Given the description of an element on the screen output the (x, y) to click on. 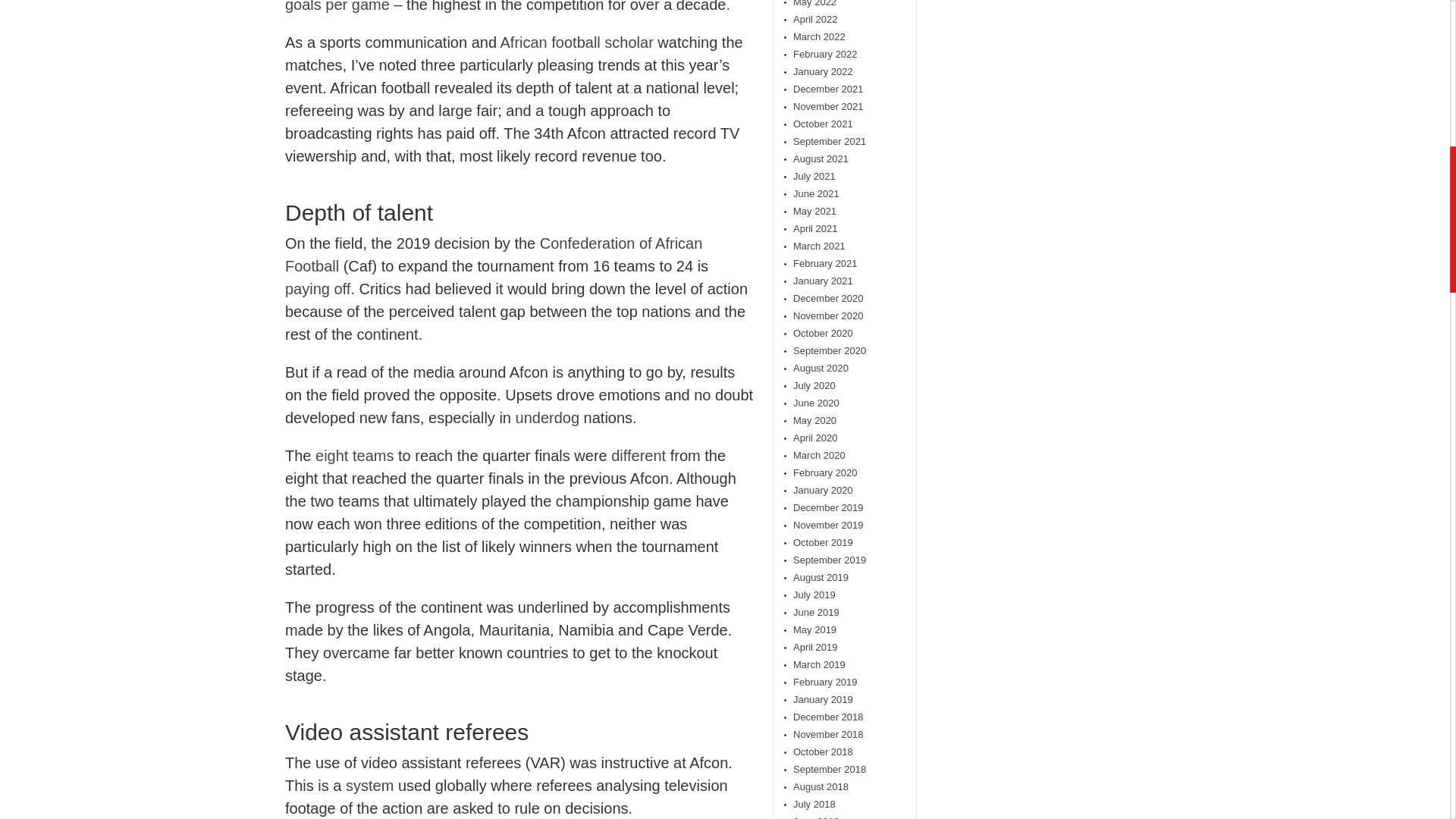
Confederation of African Football (493, 254)
system (369, 785)
African football scholar (575, 42)
2.47 goals per game (513, 6)
different (638, 455)
eight teams (354, 455)
underdog (547, 417)
paying off (317, 288)
